Given the description of an element on the screen output the (x, y) to click on. 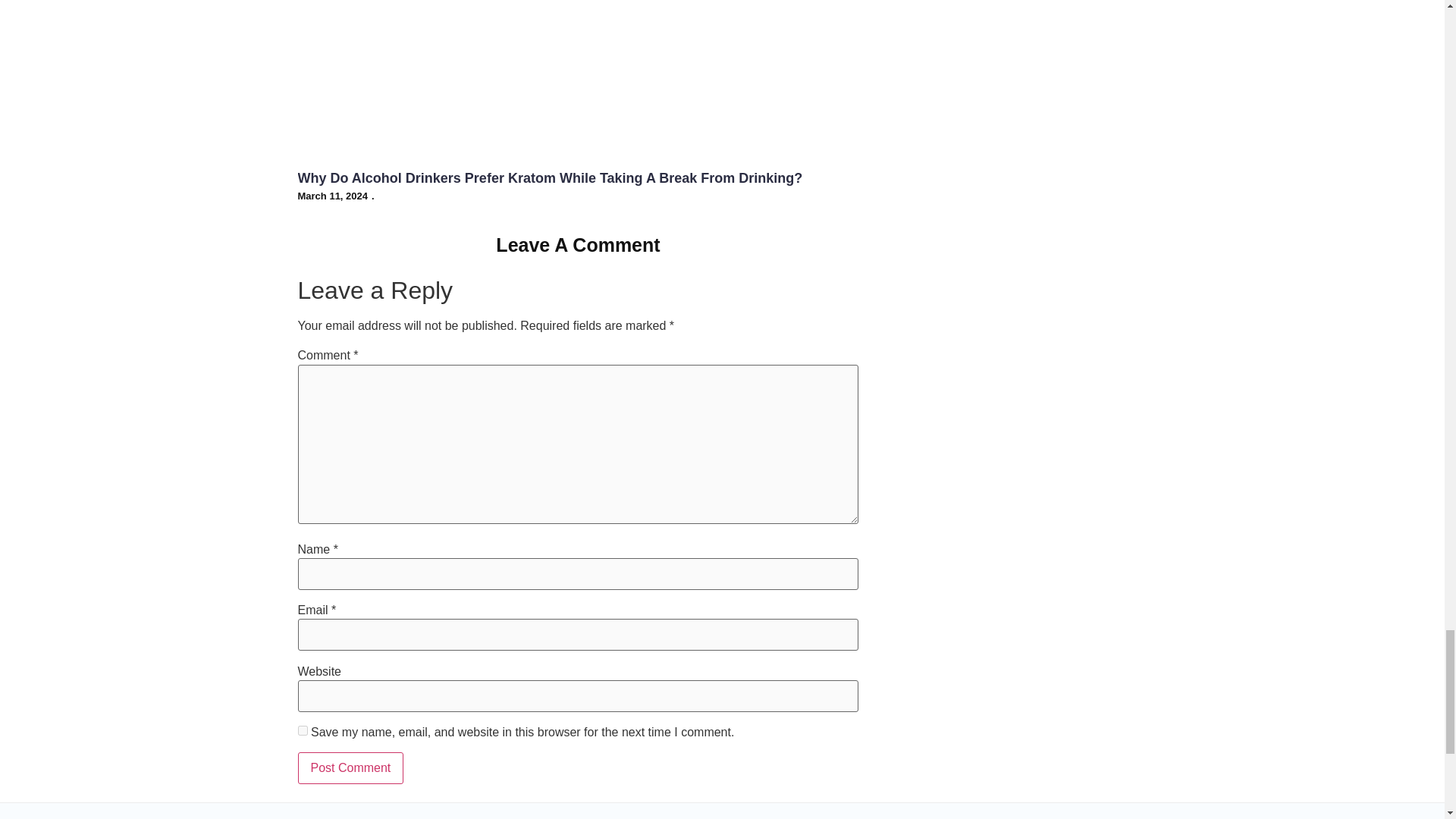
yes (302, 730)
Post Comment (350, 767)
